Given the description of an element on the screen output the (x, y) to click on. 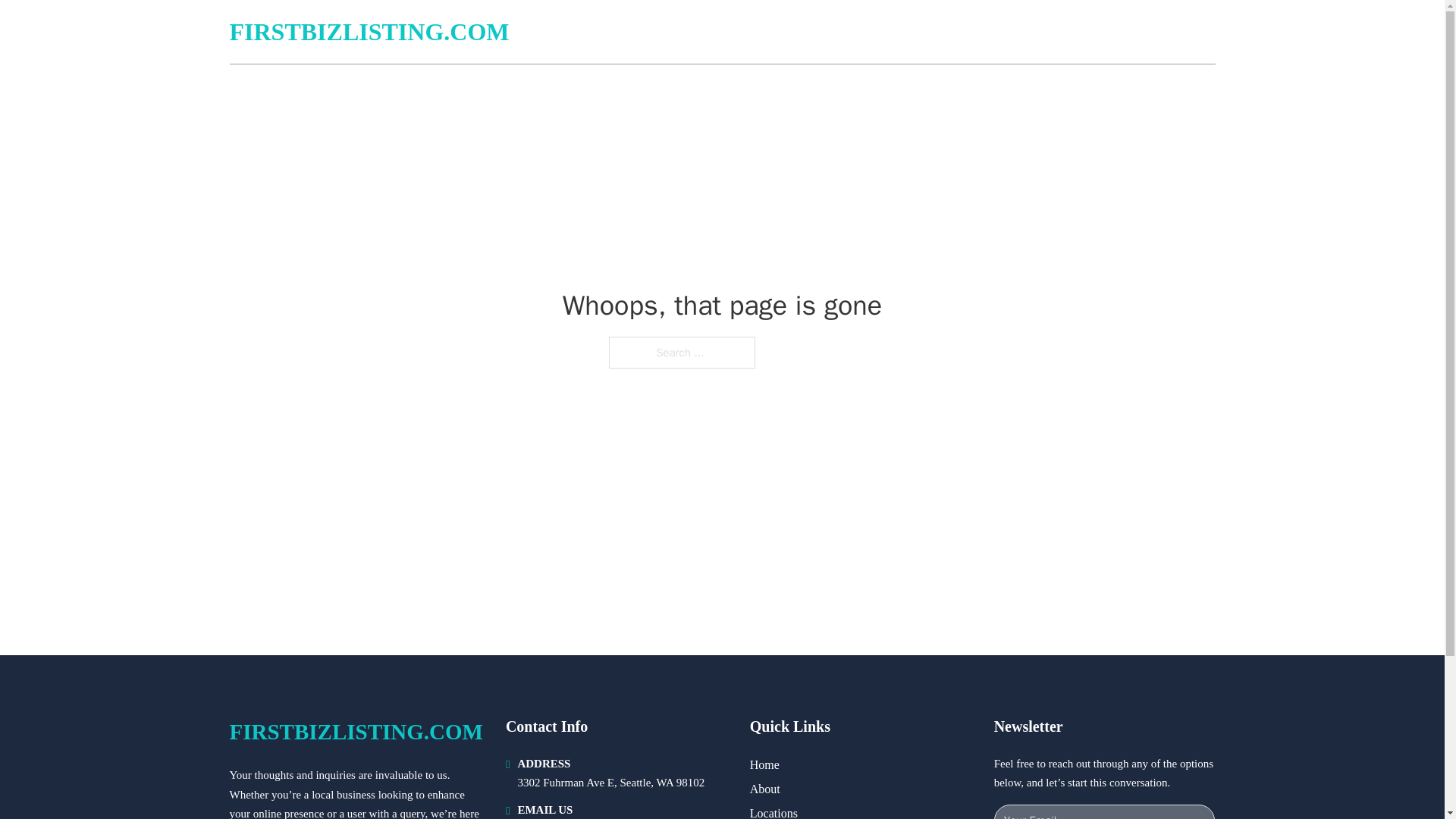
LOCATIONS (1105, 31)
FIRSTBIZLISTING.COM (354, 732)
About (764, 788)
HOME (1032, 31)
Locations (773, 811)
Home (763, 764)
FIRSTBIZLISTING.COM (368, 31)
